Given the description of an element on the screen output the (x, y) to click on. 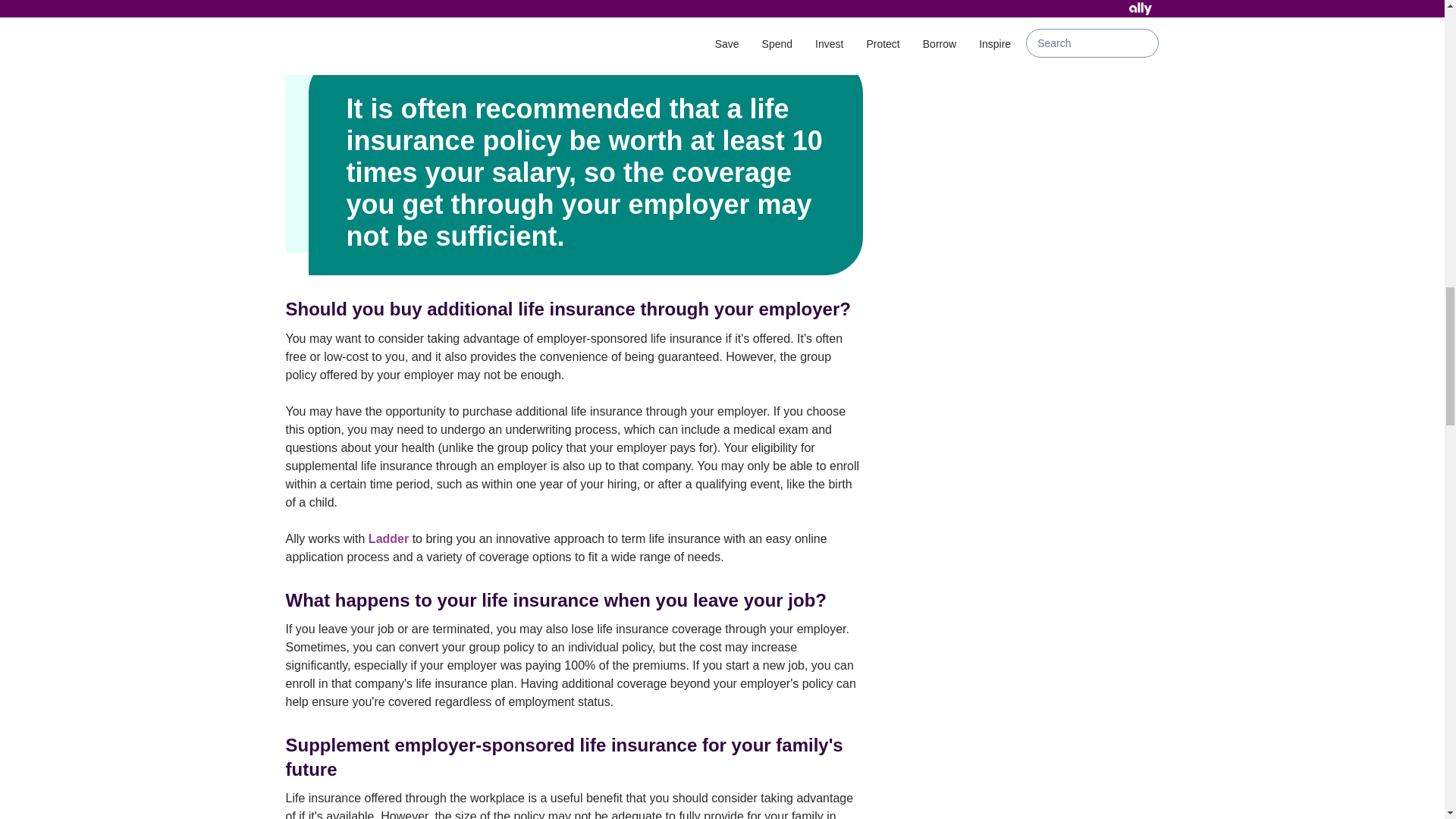
Ladder (388, 538)
